Given the description of an element on the screen output the (x, y) to click on. 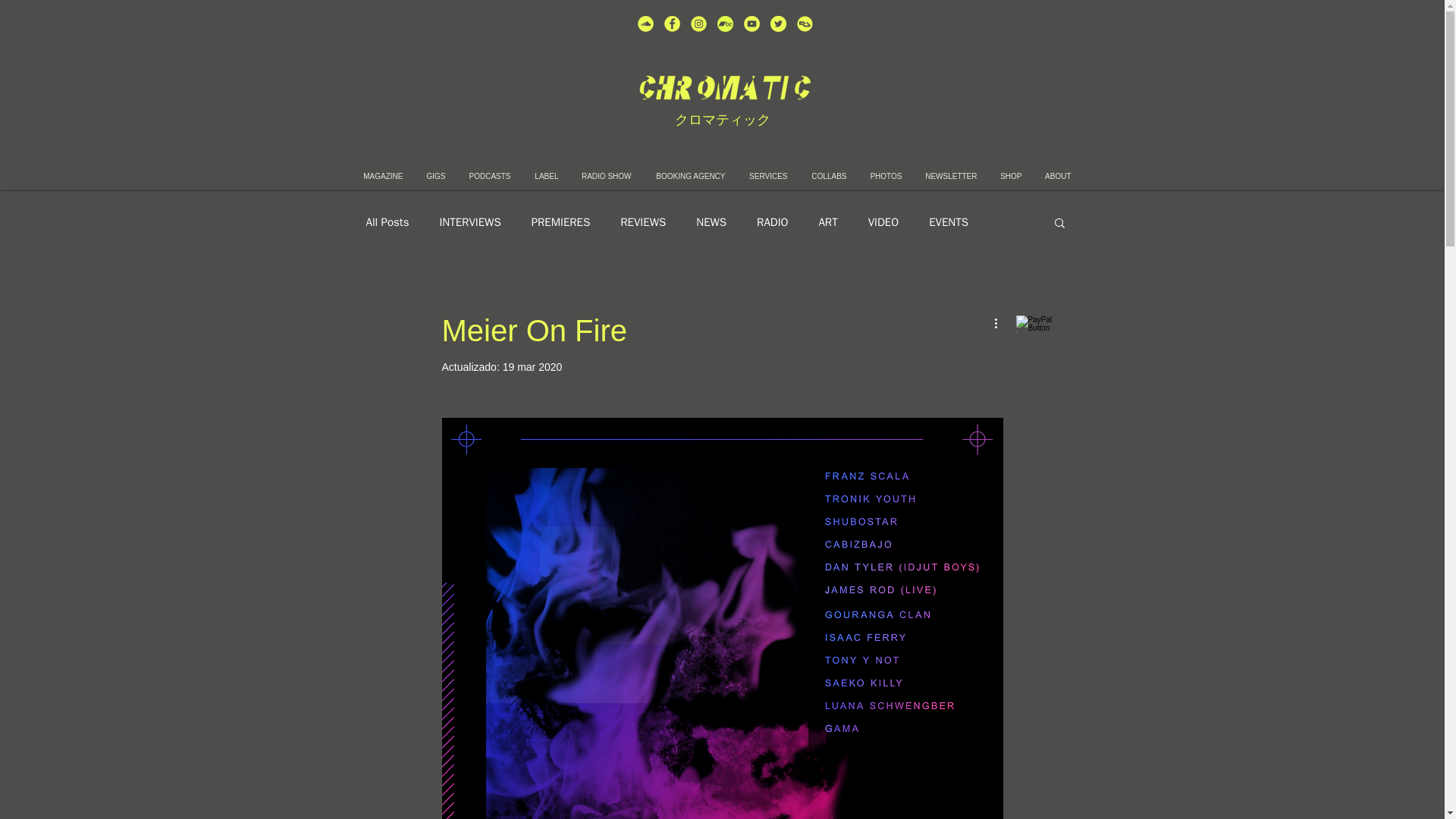
VIDEO (882, 222)
NEWSLETTER (950, 176)
PREMIERES (561, 222)
LABEL (545, 176)
RADIO SHOW (606, 176)
GIGS (435, 176)
COLLABS (829, 176)
BOOKING AGENCY (689, 176)
PHOTOS (886, 176)
ABOUT (1056, 176)
